Given the description of an element on the screen output the (x, y) to click on. 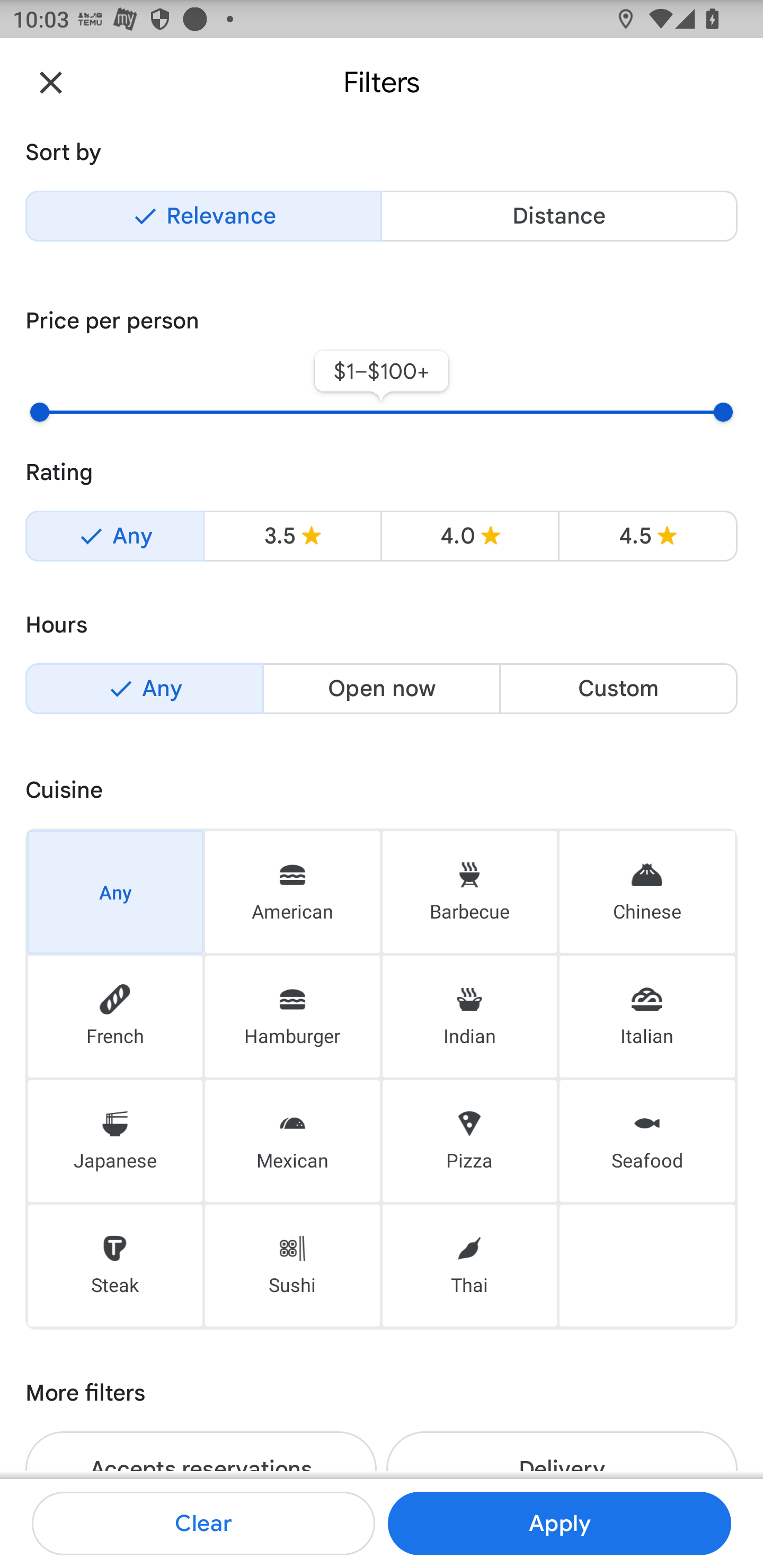
Close menu (50, 81)
Relevance (203, 216)
Distance (558, 216)
Any (114, 535)
3.5 stars (292, 535)
4.0 stars (469, 535)
4.5 stars (647, 535)
Any (144, 688)
Open now (381, 688)
Custom (618, 688)
Any (114, 891)
American (291, 891)
Barbecue (469, 891)
Chinese (647, 891)
French (114, 1016)
Hamburger (291, 1016)
Indian (469, 1016)
Italian (647, 1016)
Japanese (114, 1140)
Mexican (291, 1140)
Pizza (469, 1140)
Seafood (647, 1140)
Steak (114, 1266)
Sushi (291, 1266)
Thai (469, 1266)
Clear Clear Clear (203, 1522)
Apply Apply Apply (558, 1522)
